Given the description of an element on the screen output the (x, y) to click on. 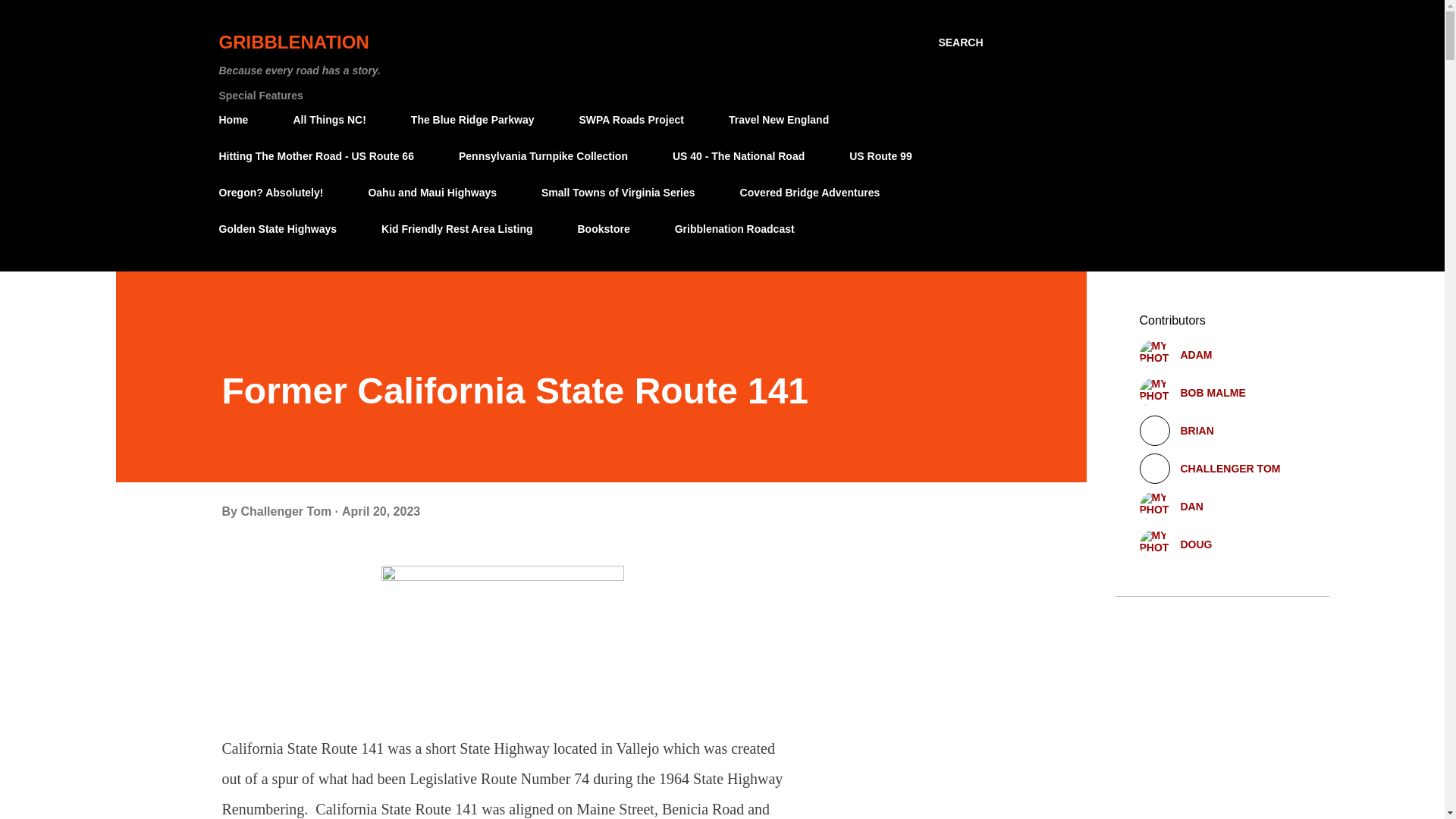
author profile (287, 511)
GRIBBLENATION (293, 41)
SWPA Roads Project (631, 119)
SEARCH (959, 42)
Kid Friendly Rest Area Listing (456, 228)
All Things NC! (328, 119)
April 20, 2023 (381, 511)
US 40 - The National Road (738, 155)
Oregon? Absolutely! (274, 192)
Small Towns of Virginia Series (618, 192)
